Given the description of an element on the screen output the (x, y) to click on. 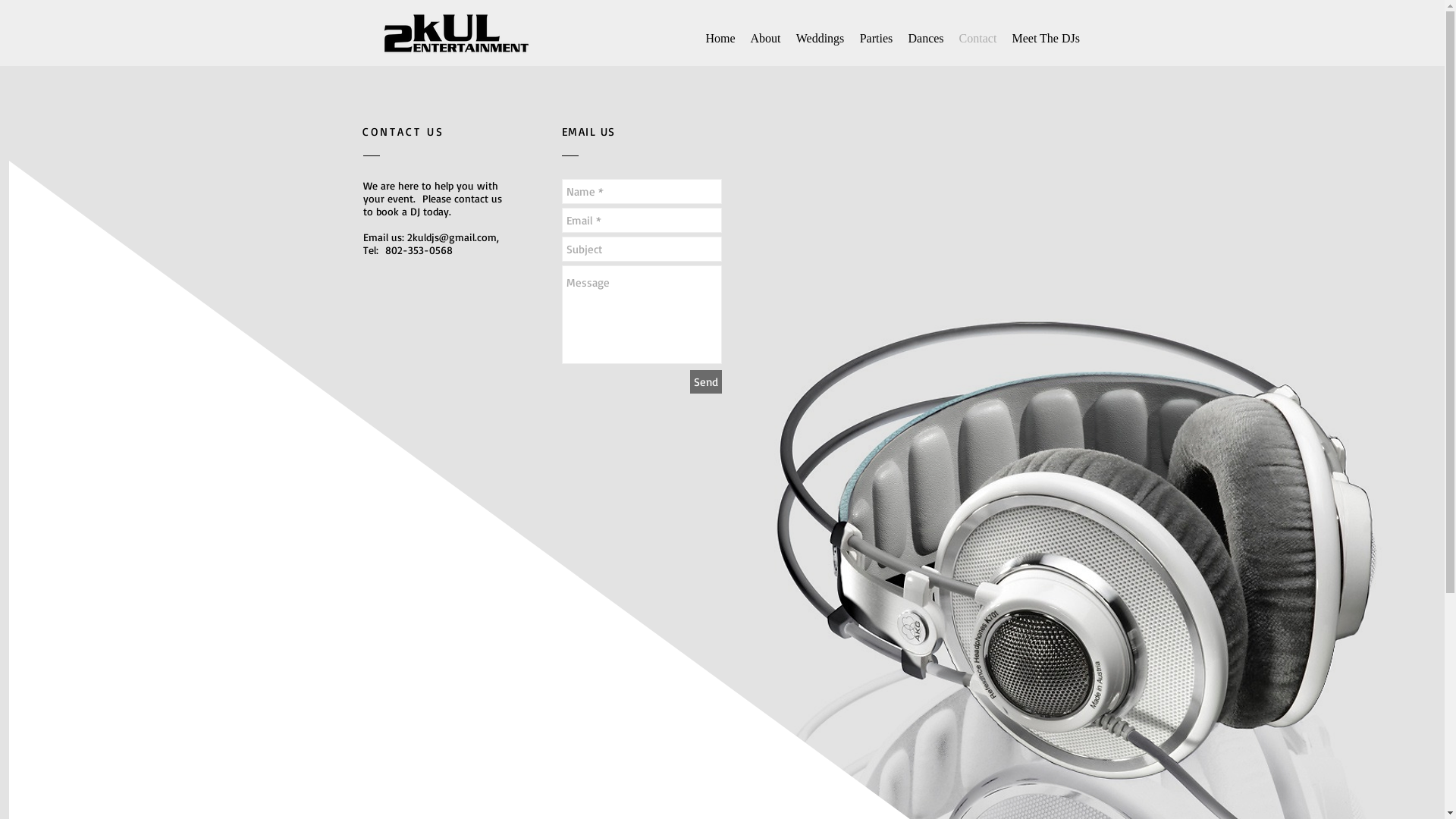
Home Element type: text (719, 38)
Send Element type: text (705, 381)
Dances Element type: text (925, 38)
About Element type: text (765, 38)
Contact Element type: text (977, 38)
2kuldjs@gmail.com Element type: text (450, 236)
Weddings Element type: text (820, 38)
Parties Element type: text (876, 38)
Meet The DJs Element type: text (1045, 38)
